Given the description of an element on the screen output the (x, y) to click on. 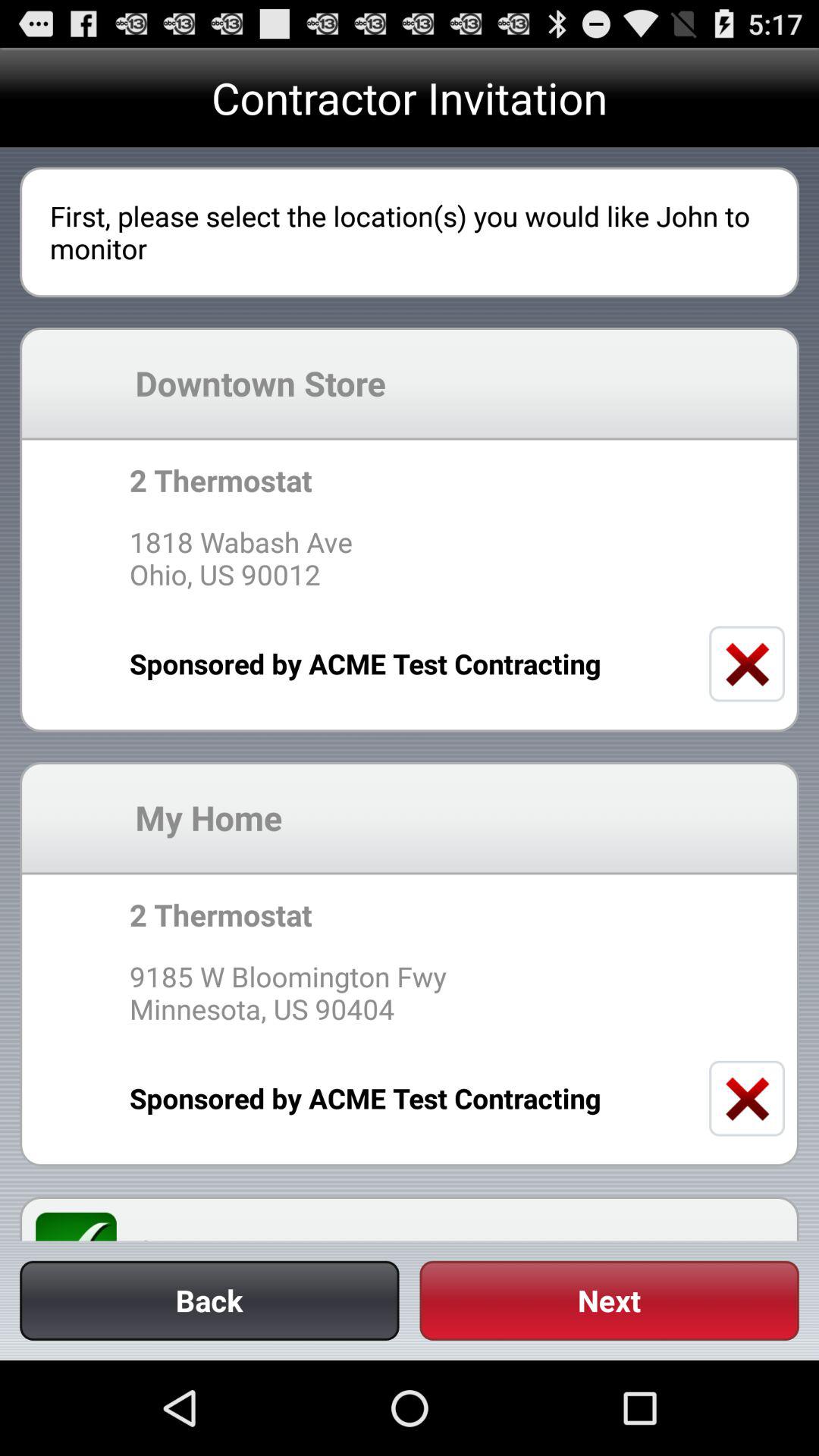
flip to 9185 w bloomington icon (409, 992)
